Given the description of an element on the screen output the (x, y) to click on. 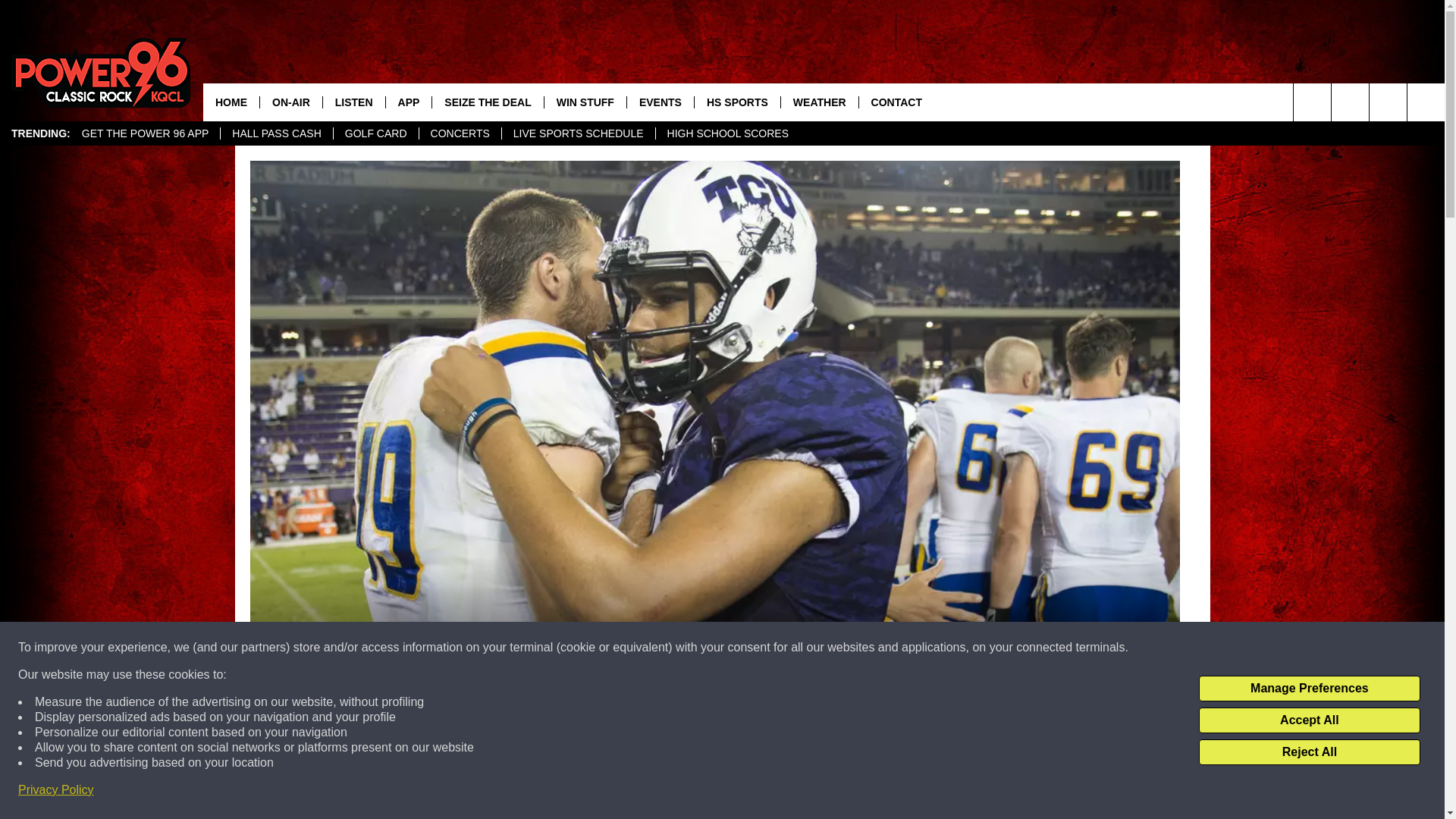
Share on Twitter (912, 791)
HOME (231, 102)
APP (408, 102)
Manage Preferences (1309, 688)
Reject All (1309, 751)
CONCERTS (459, 133)
GOLF CARD (376, 133)
EVENTS (660, 102)
LIVE SPORTS SCHEDULE (577, 133)
GET THE POWER 96 APP (145, 133)
LISTEN (353, 102)
HIGH SCHOOL SCORES (727, 133)
ON-AIR (290, 102)
SEIZE THE DEAL (486, 102)
HS SPORTS (737, 102)
